Given the description of an element on the screen output the (x, y) to click on. 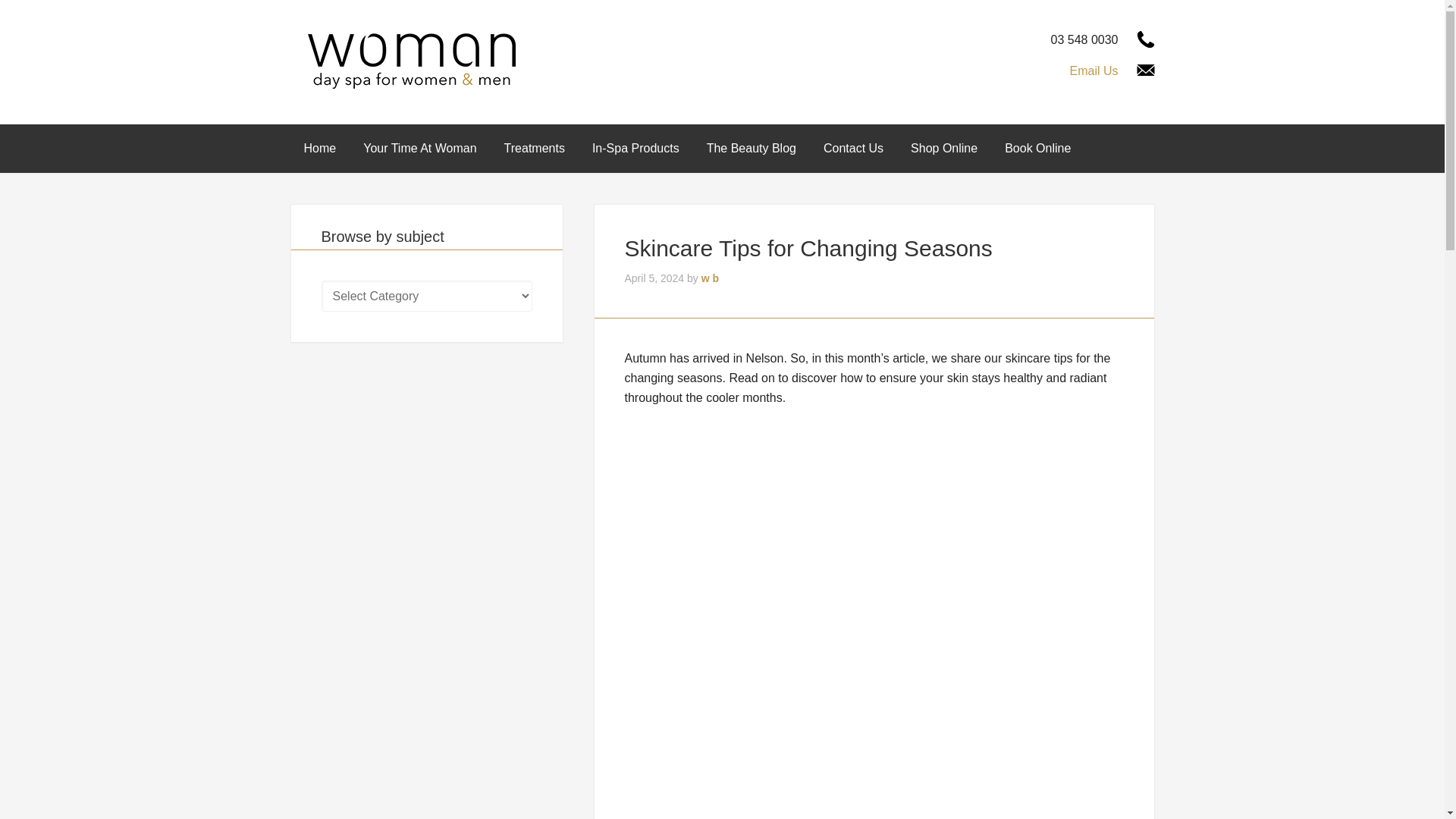
Book Online (1037, 148)
Email Us (1093, 70)
Contact Us (852, 148)
Shop Online (943, 148)
Woman Beauty Spa (410, 60)
The Beauty Blog (751, 148)
w b (710, 277)
Treatments (534, 148)
In-Spa Products (635, 148)
Home (319, 148)
